Given the description of an element on the screen output the (x, y) to click on. 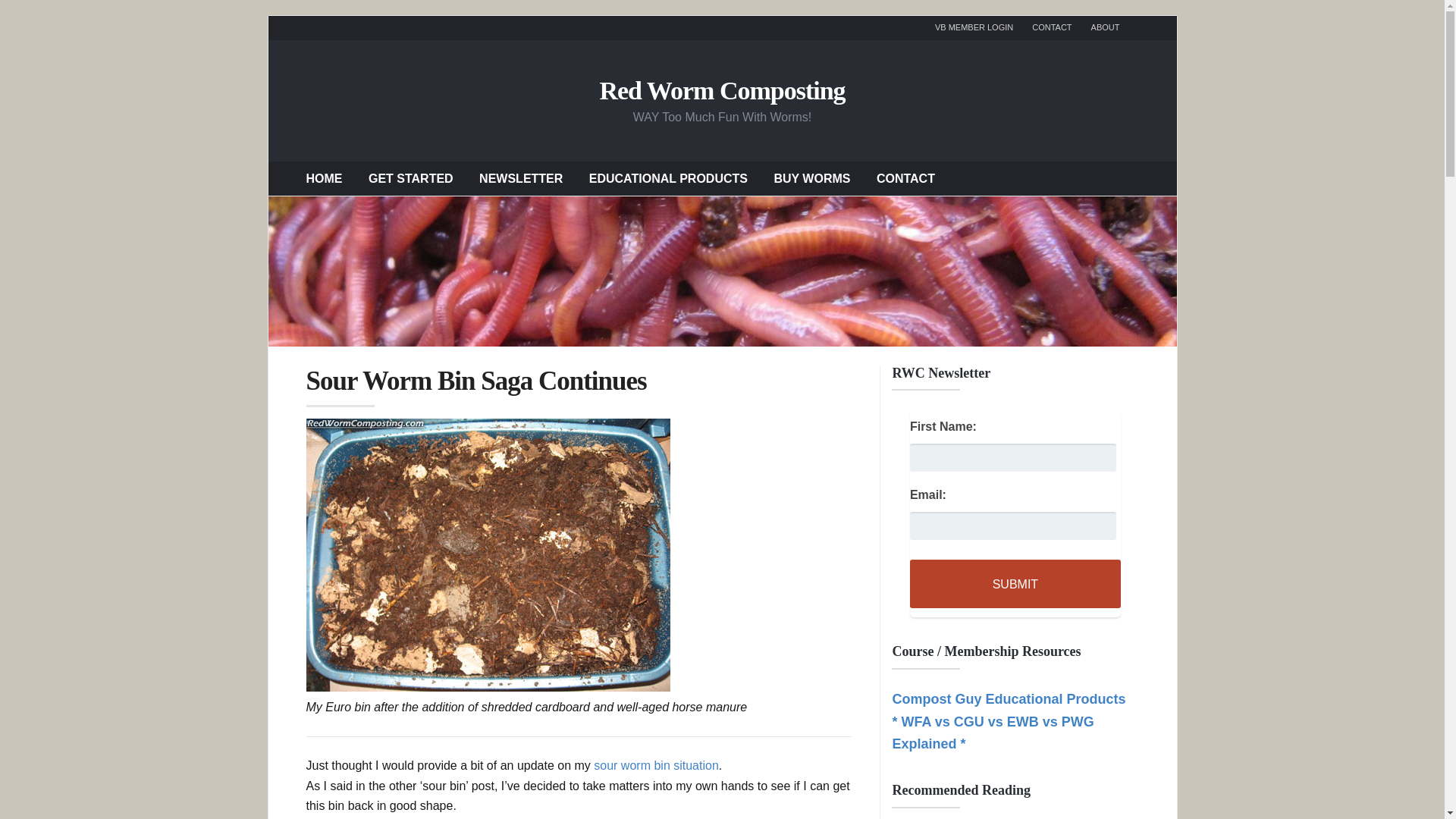
ABOUT (1104, 27)
Compost Guy Educational Products (1008, 698)
CONTACT (1051, 27)
BUY WORMS (811, 177)
GET STARTED (410, 177)
CG Educational Products (1008, 698)
NEWSLETTER (520, 177)
HOME (323, 177)
Red Worm Composting (721, 89)
Submit (1015, 583)
